Given the description of an element on the screen output the (x, y) to click on. 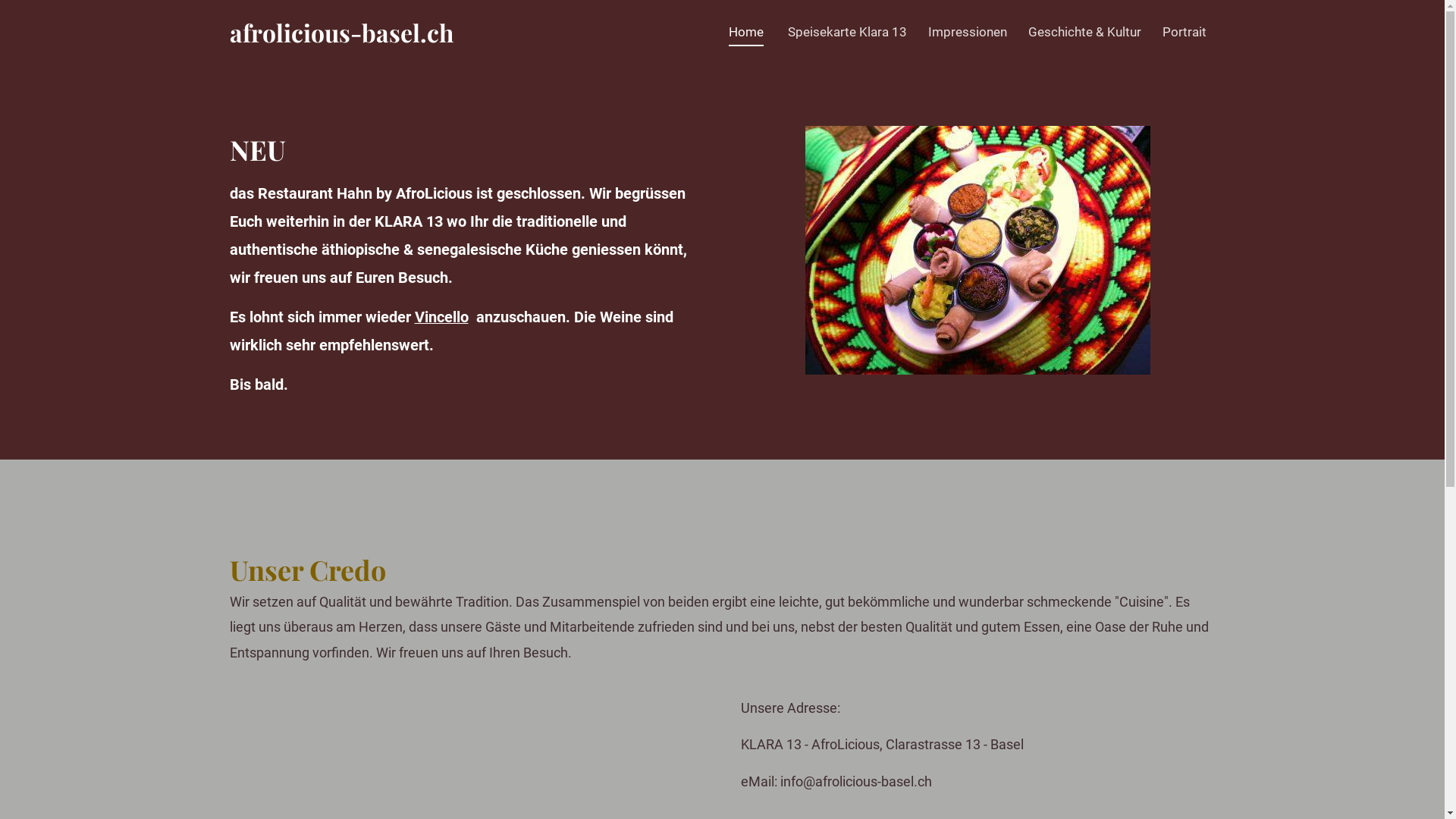
Impressionen Element type: text (967, 31)
Home Element type: text (745, 32)
Speisekarte Klara 13 Element type: text (846, 31)
Geschichte & Kultur Element type: text (1084, 31)
afrolicious-basel.ch Element type: text (340, 31)
Portrait Element type: text (1183, 31)
Vincello Element type: text (440, 317)
